Given the description of an element on the screen output the (x, y) to click on. 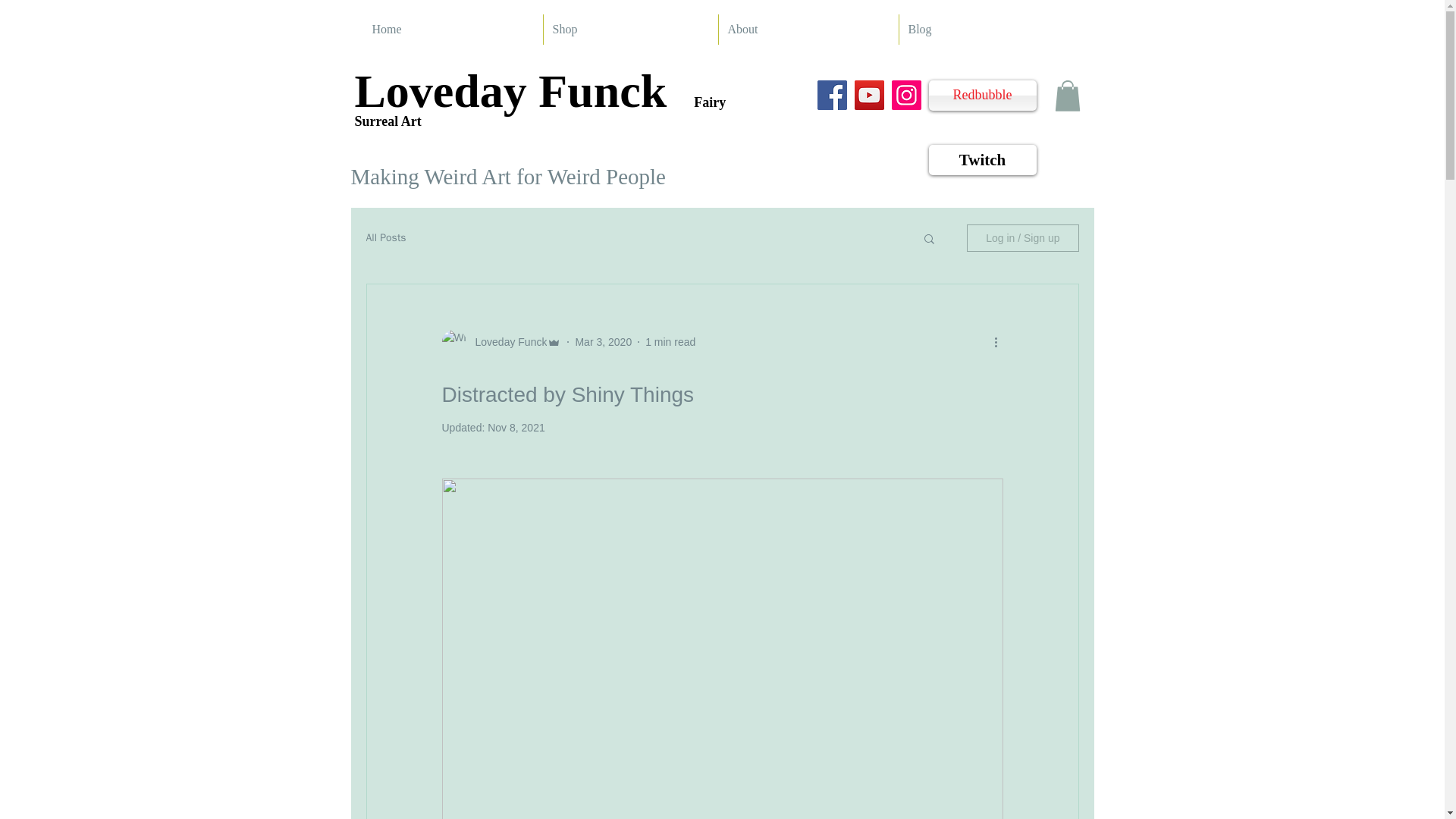
Mar 3, 2020 (603, 341)
Nov 8, 2021 (515, 427)
Loveday Funck (506, 342)
Blog (985, 29)
Shop (630, 29)
Home (451, 29)
1 min read (670, 341)
About (808, 29)
